Given the description of an element on the screen output the (x, y) to click on. 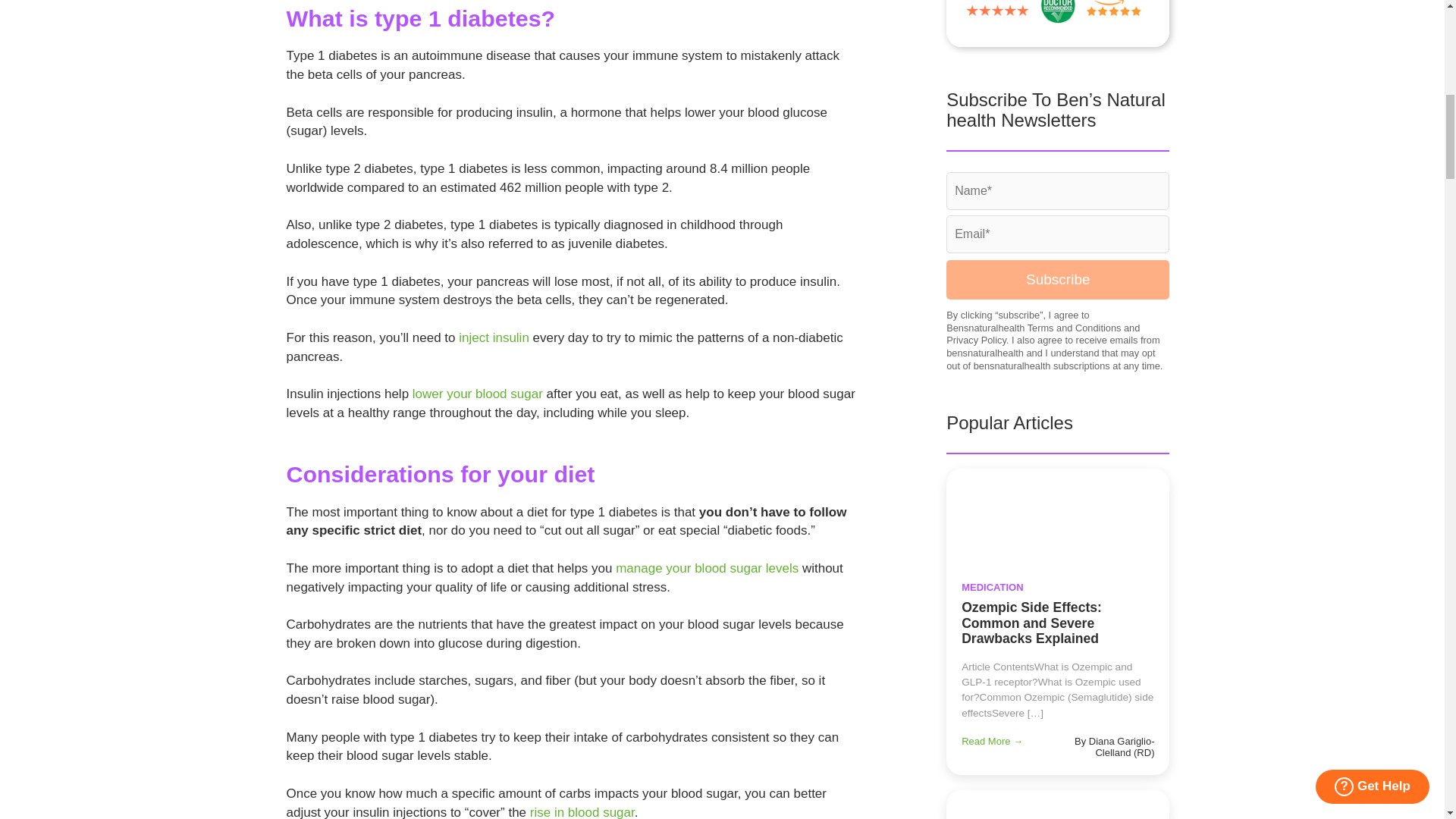
lower your blood sugar (477, 393)
inject insulin (493, 337)
Subscribe (1057, 279)
manage your blood sugar levels (706, 568)
